Given the description of an element on the screen output the (x, y) to click on. 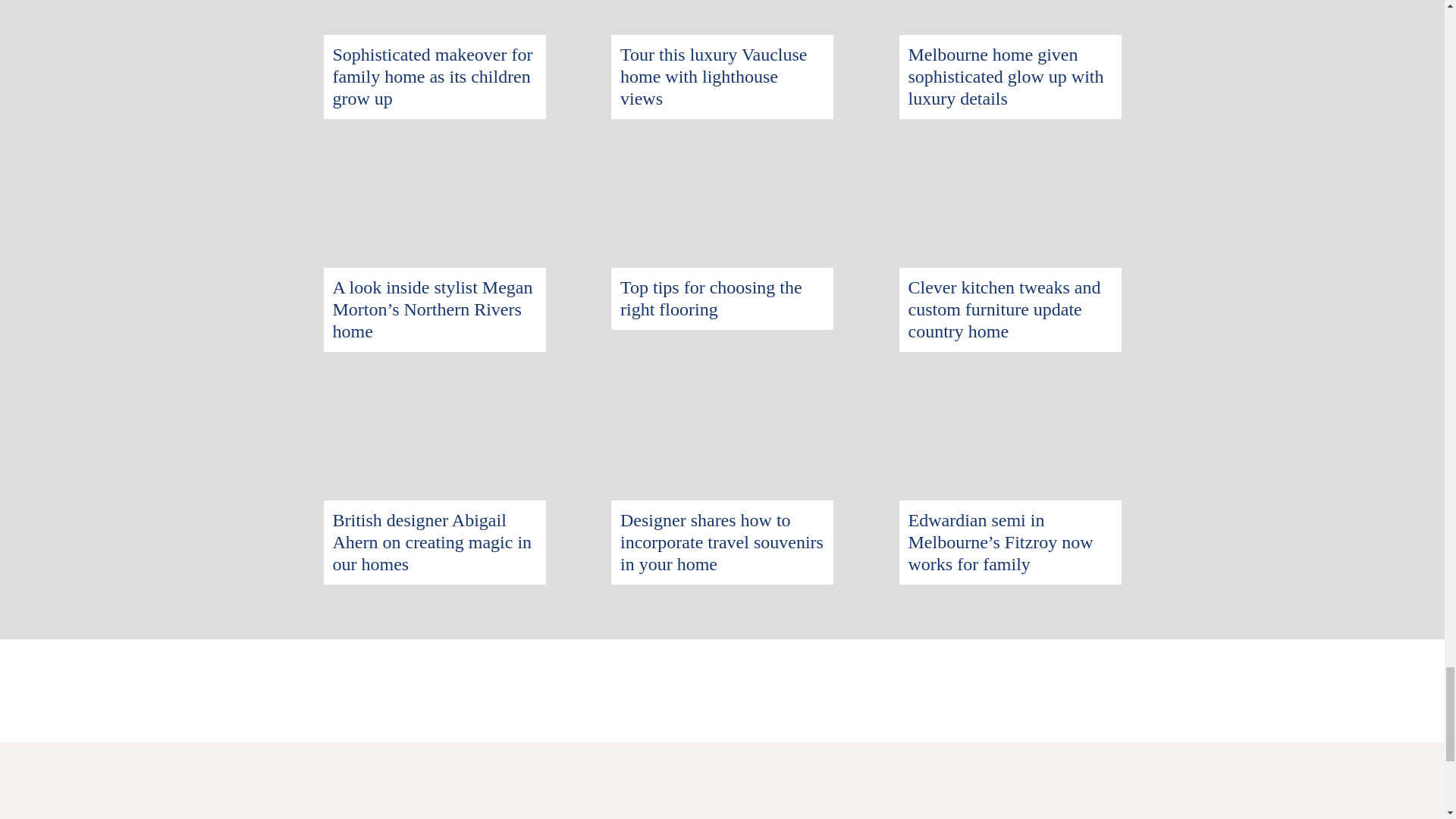
Tour this luxury Vaucluse home with lighthouse views (714, 76)
